Given the description of an element on the screen output the (x, y) to click on. 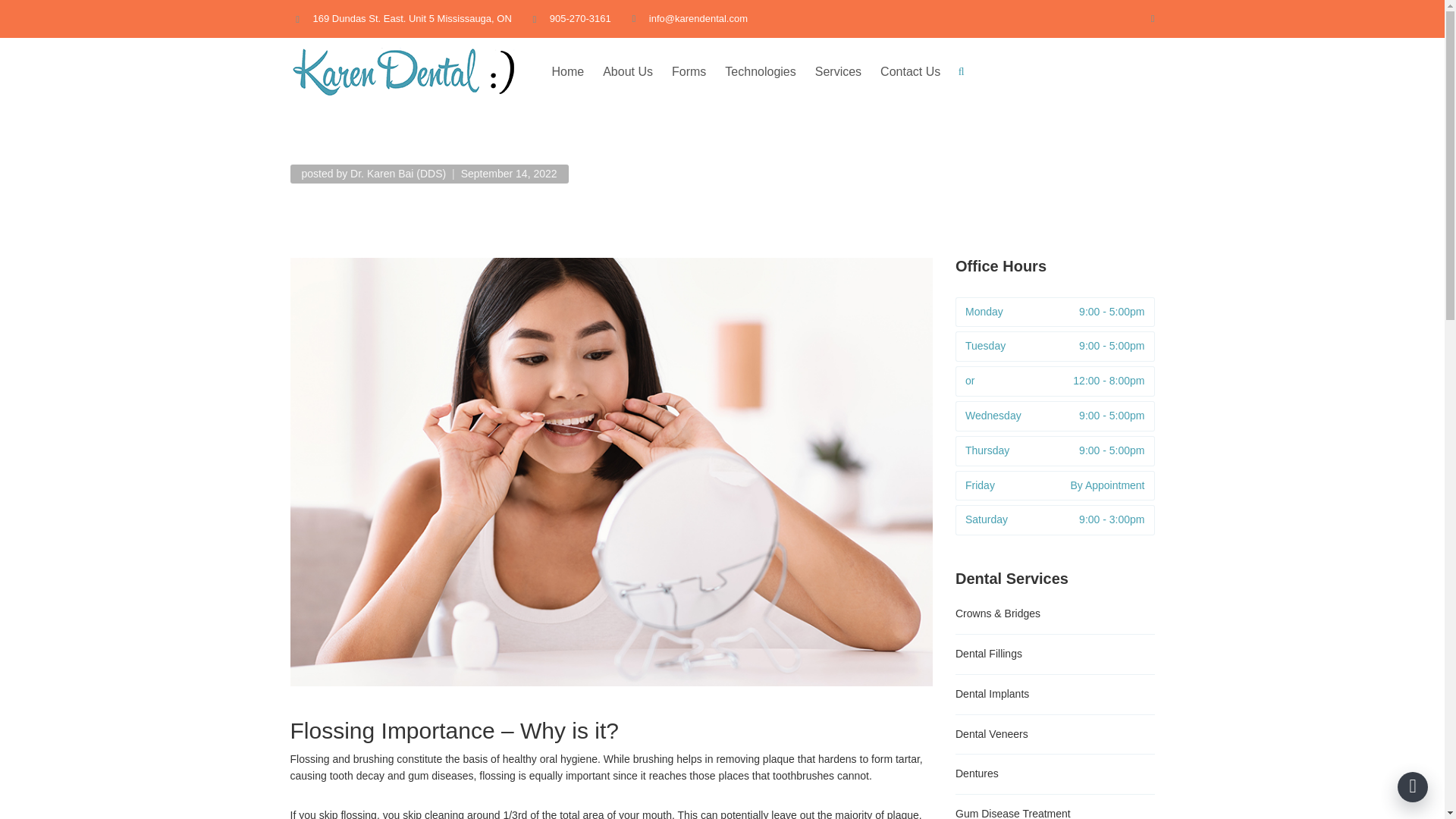
Request Appointment (1072, 71)
Scroll to top (1412, 787)
Services (837, 71)
Technologies (759, 71)
Contact Us (909, 71)
Forms (689, 71)
Home (567, 71)
About Us (627, 71)
